Given the description of an element on the screen output the (x, y) to click on. 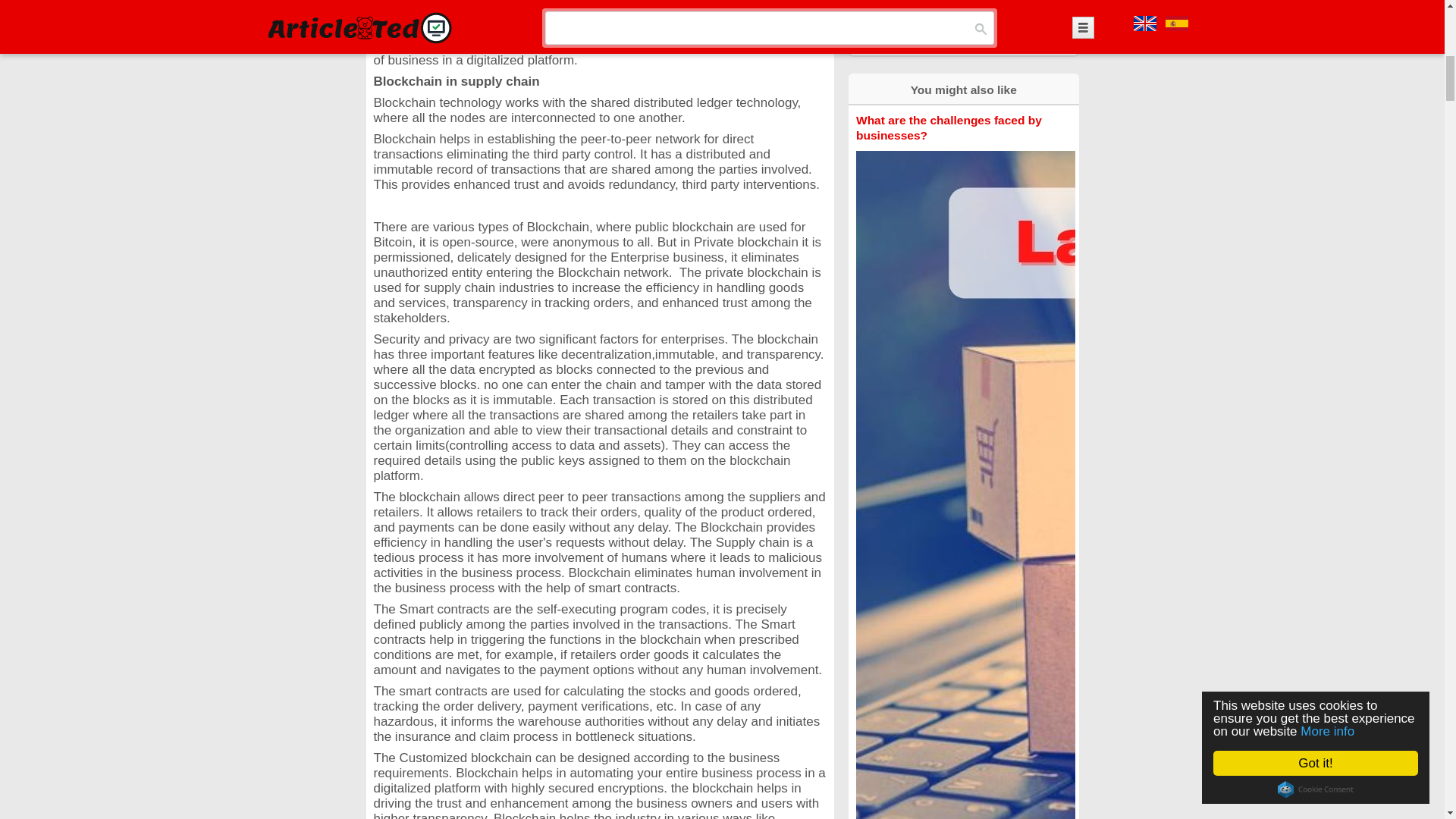
What are the challenges faced by businesses? (949, 127)
